Given the description of an element on the screen output the (x, y) to click on. 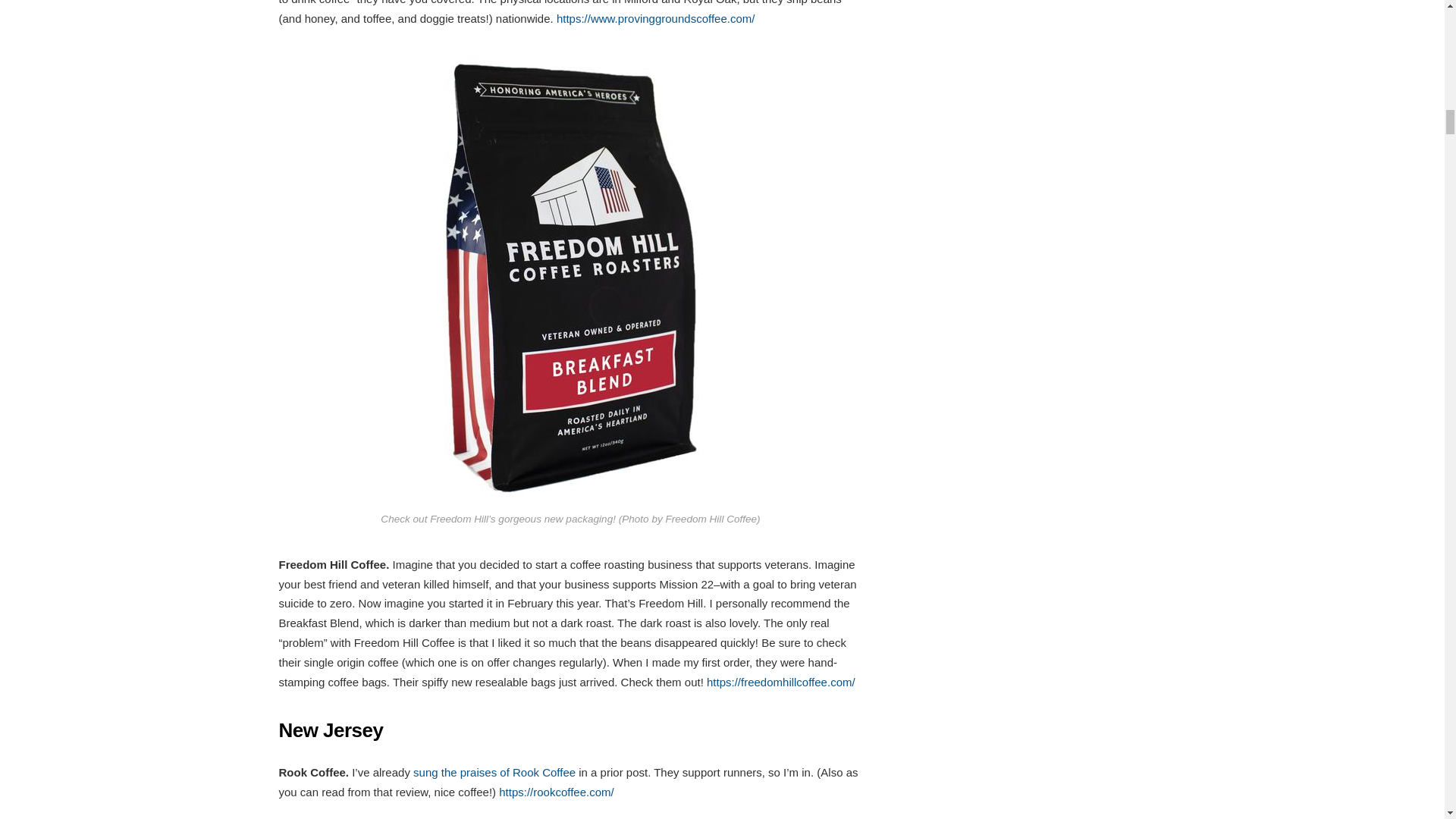
sung the praises of Rook Coffee (494, 771)
